Given the description of an element on the screen output the (x, y) to click on. 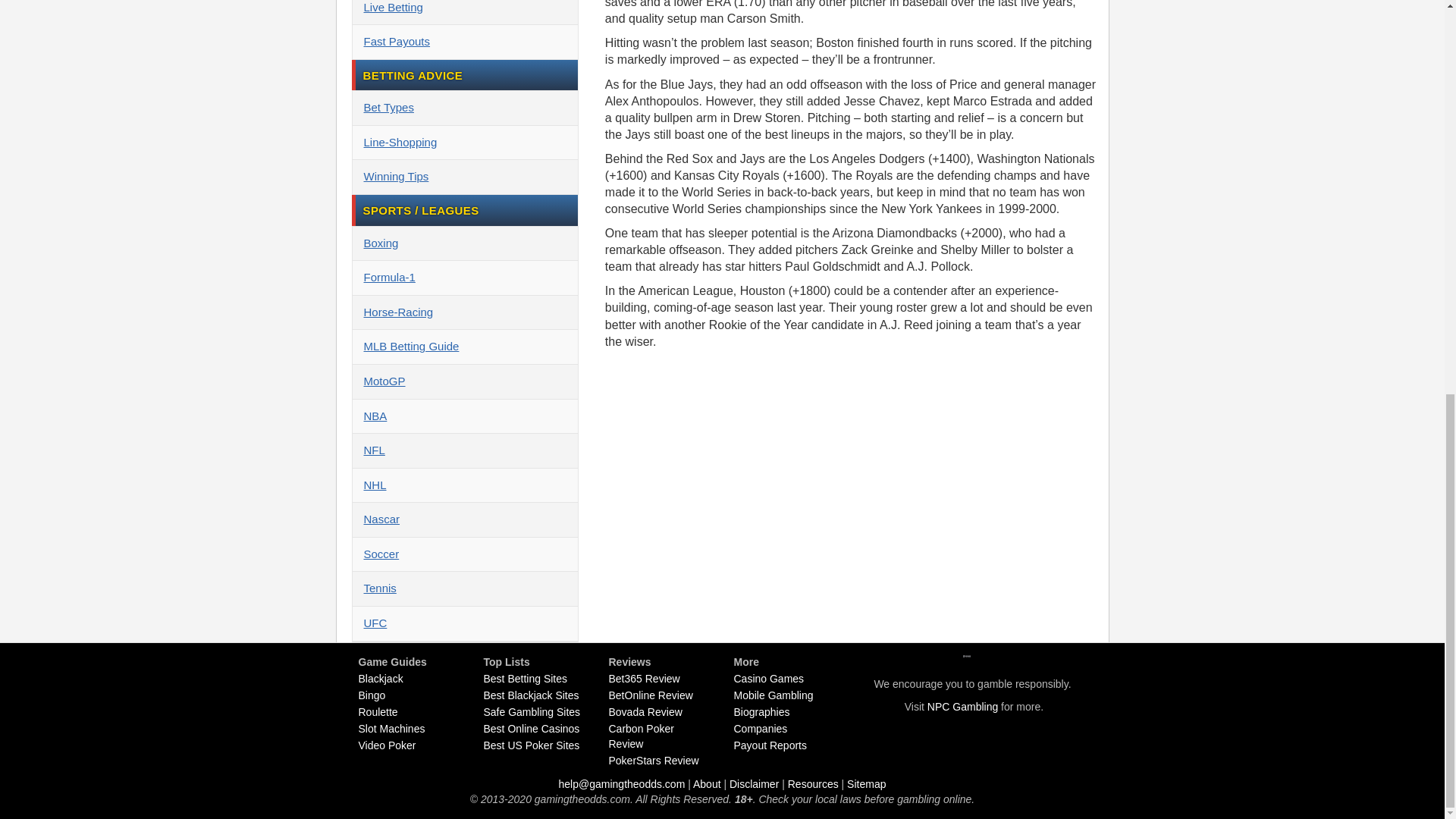
Boxing (464, 243)
Winning Tips (464, 176)
Line-Shopping (464, 143)
Fast Payouts (464, 42)
Live Betting (464, 12)
Bet Types (464, 108)
